Given the description of an element on the screen output the (x, y) to click on. 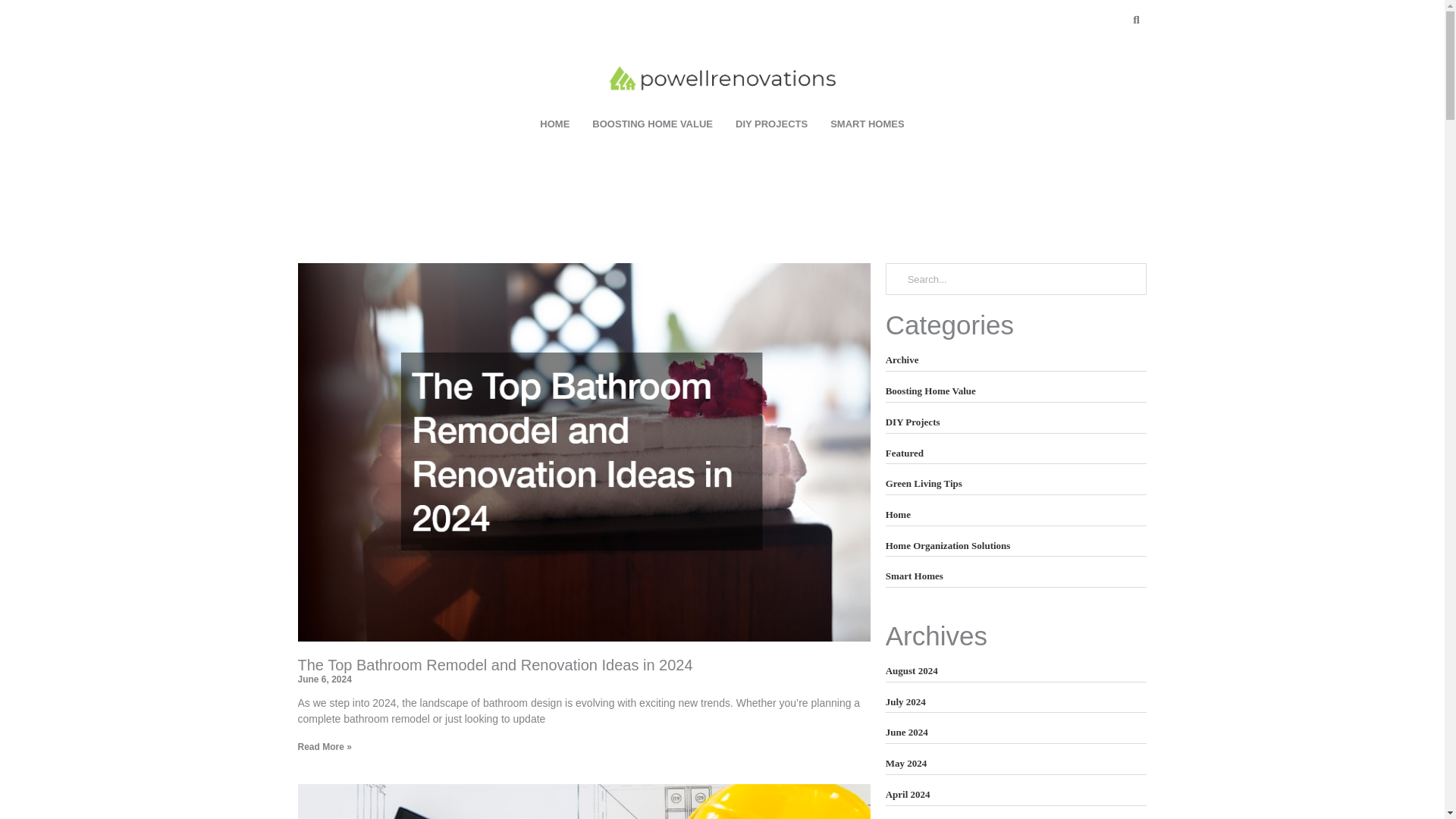
HOME (554, 124)
The Top Bathroom Remodel and Renovation Ideas in 2024 (495, 664)
DIY PROJECTS (770, 124)
BOOSTING HOME VALUE (651, 124)
SMART HOMES (866, 124)
